Given the description of an element on the screen output the (x, y) to click on. 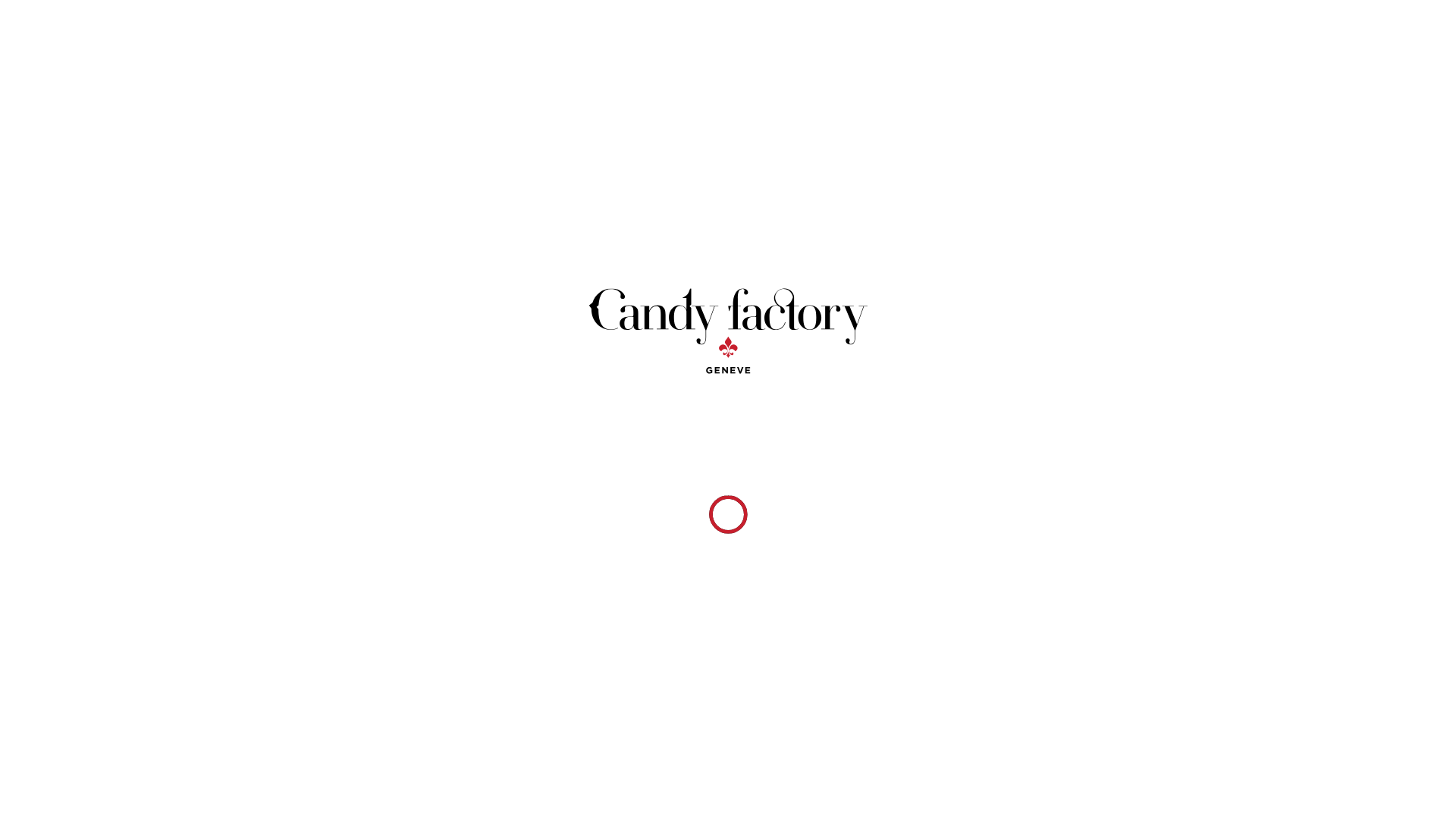
Submit Element type: text (727, 604)
